Given the description of an element on the screen output the (x, y) to click on. 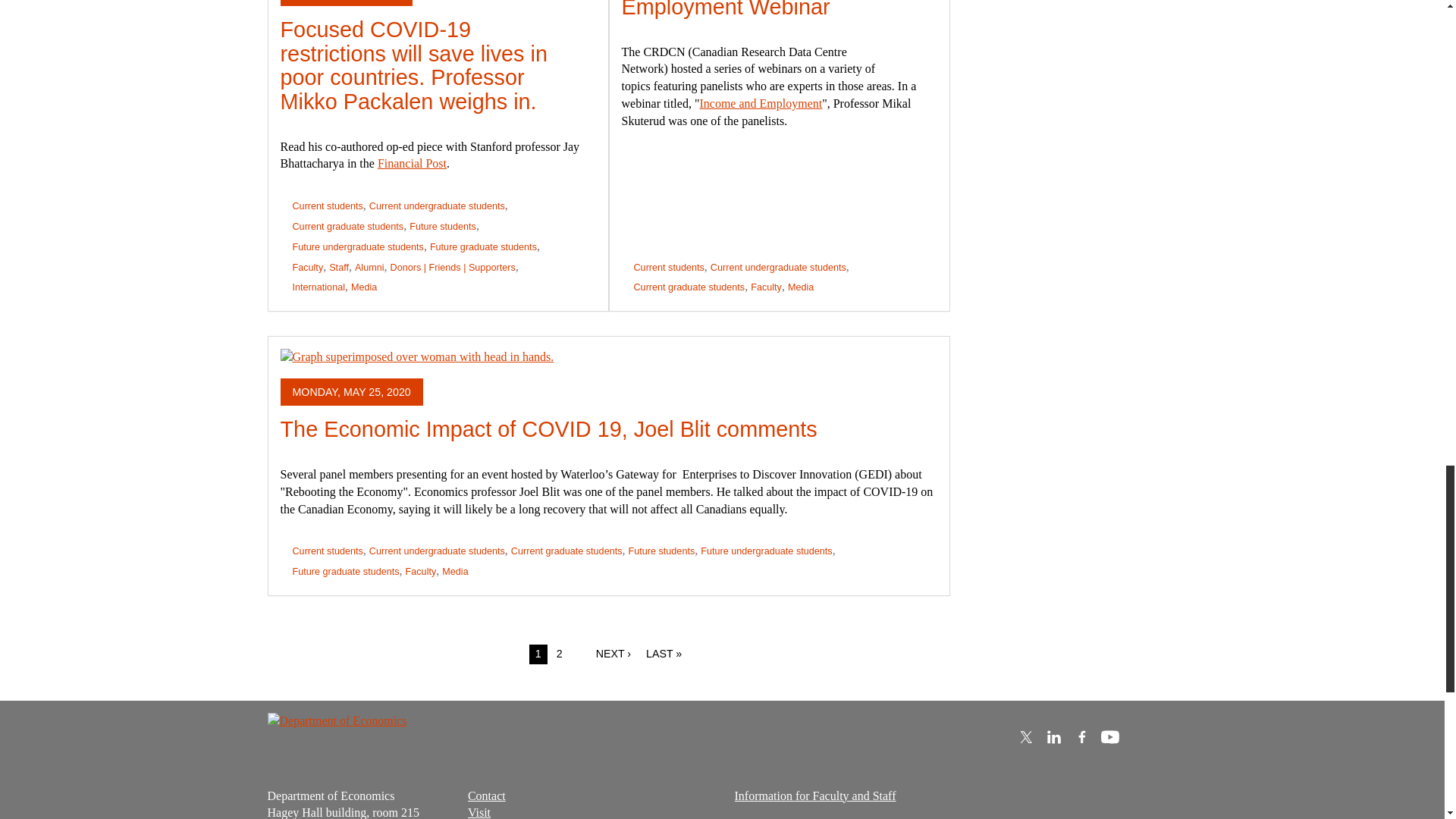
Go to next page (613, 654)
Go to last page (663, 654)
Go to page 2 (559, 654)
